Given the description of an element on the screen output the (x, y) to click on. 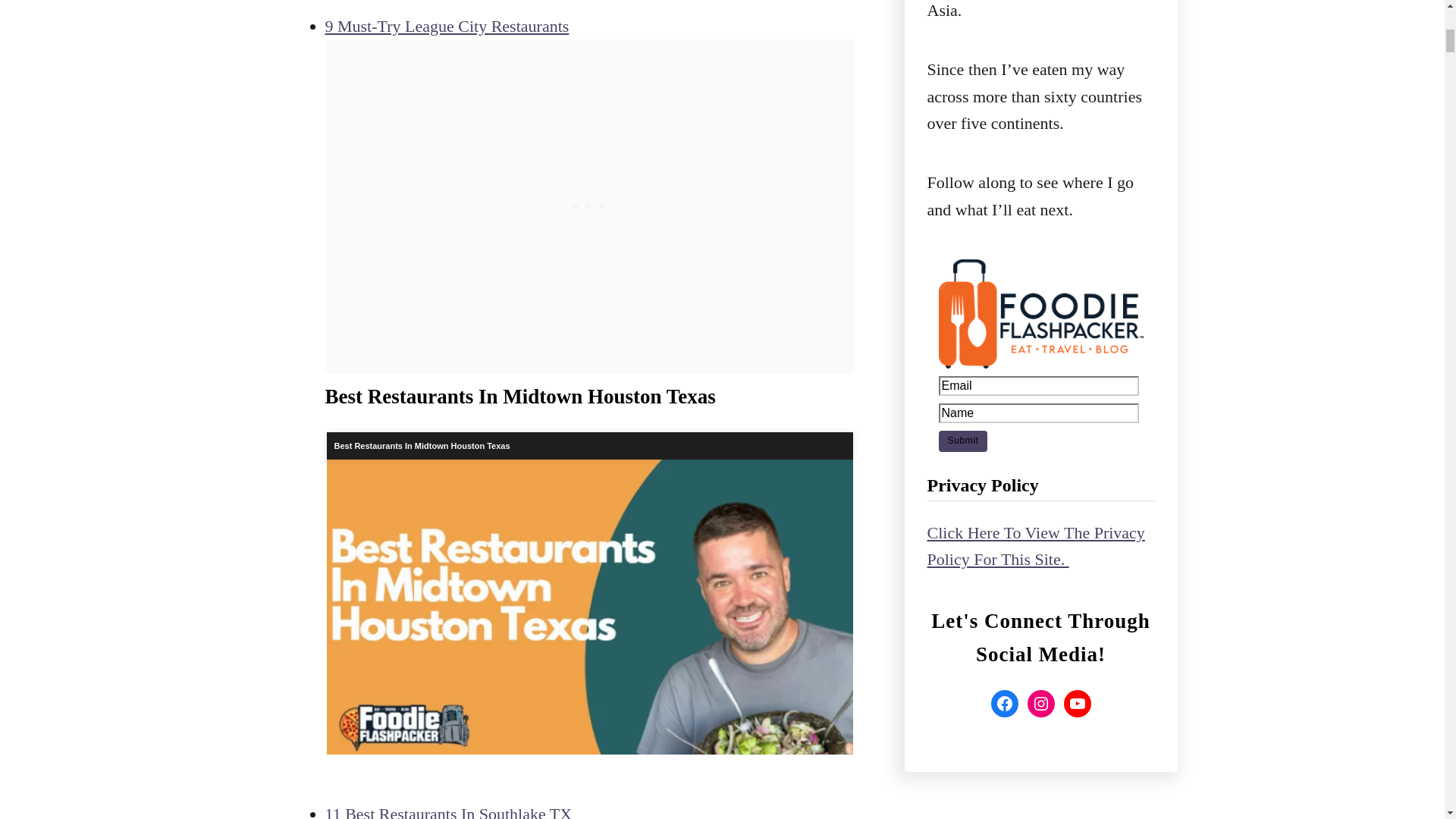
Email (1039, 385)
Submit (963, 441)
Name (1039, 413)
